Given the description of an element on the screen output the (x, y) to click on. 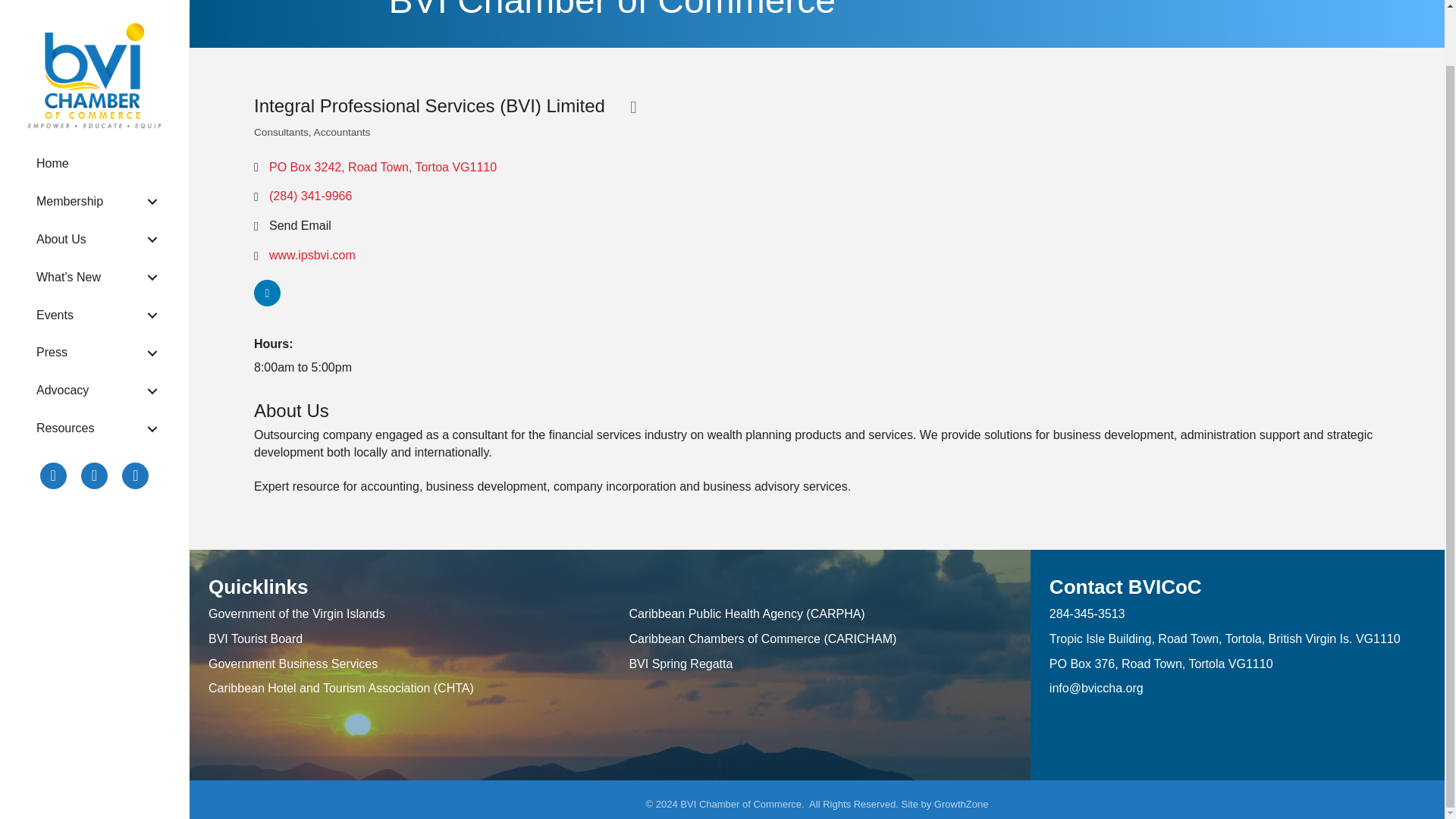
About Us (93, 179)
Home (93, 103)
PO Box 3242 Road Town Tortoa VG1110 (382, 166)
Membership (93, 140)
Advocacy (93, 330)
View on LinkedIn (267, 301)
Resources (93, 367)
Press (93, 292)
Events (93, 254)
BVICC Secondary Logo - Full Color w Gradient (93, 34)
